Given the description of an element on the screen output the (x, y) to click on. 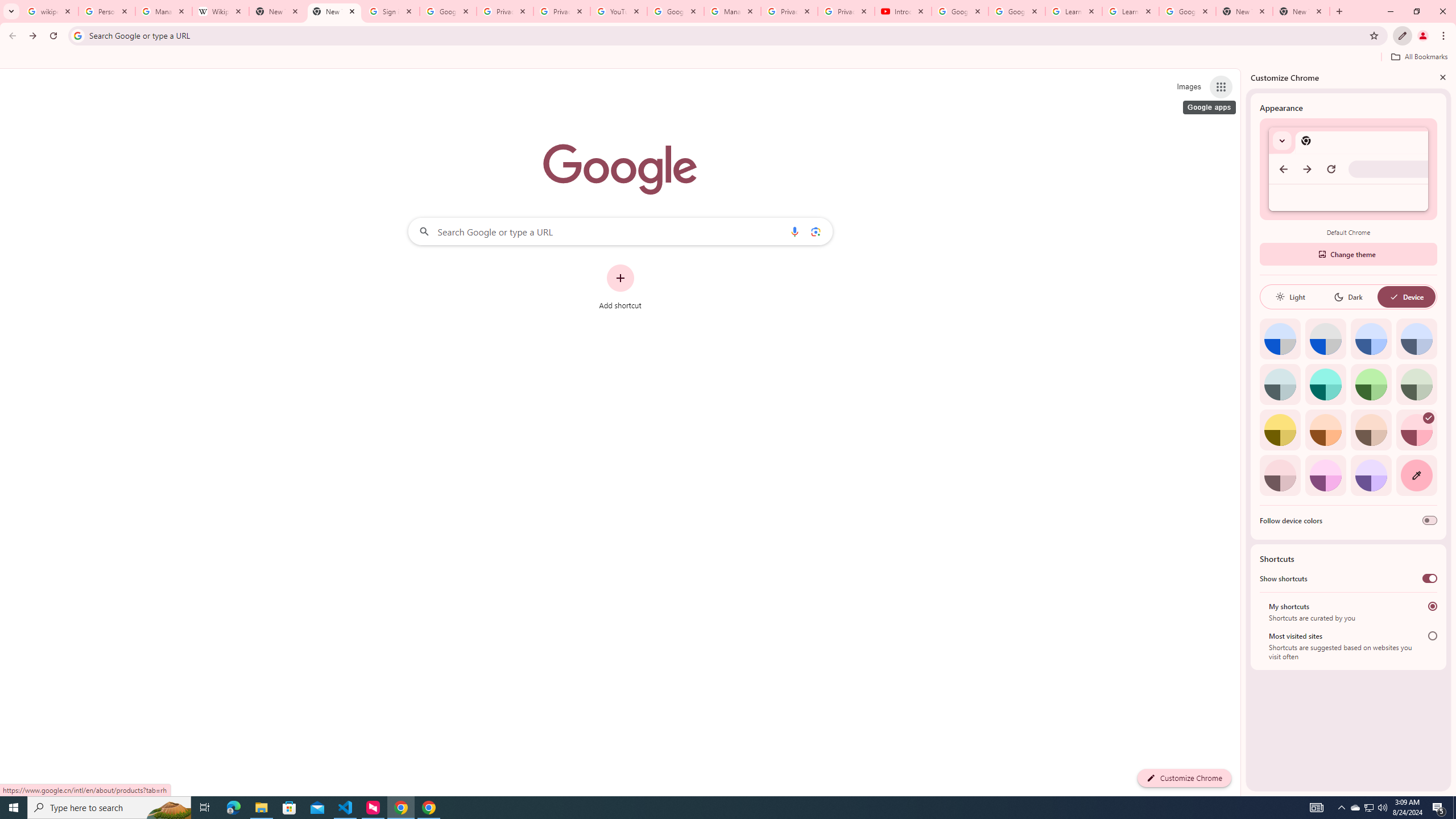
Fuchsia (1325, 475)
Cool grey (1416, 338)
Side Panel Resize Handle (1242, 431)
New Tab (1244, 11)
Light (1289, 296)
Blue (1371, 338)
Dark (1348, 296)
Sign in - Google Accounts (391, 11)
New Tab (1301, 11)
